Given the description of an element on the screen output the (x, y) to click on. 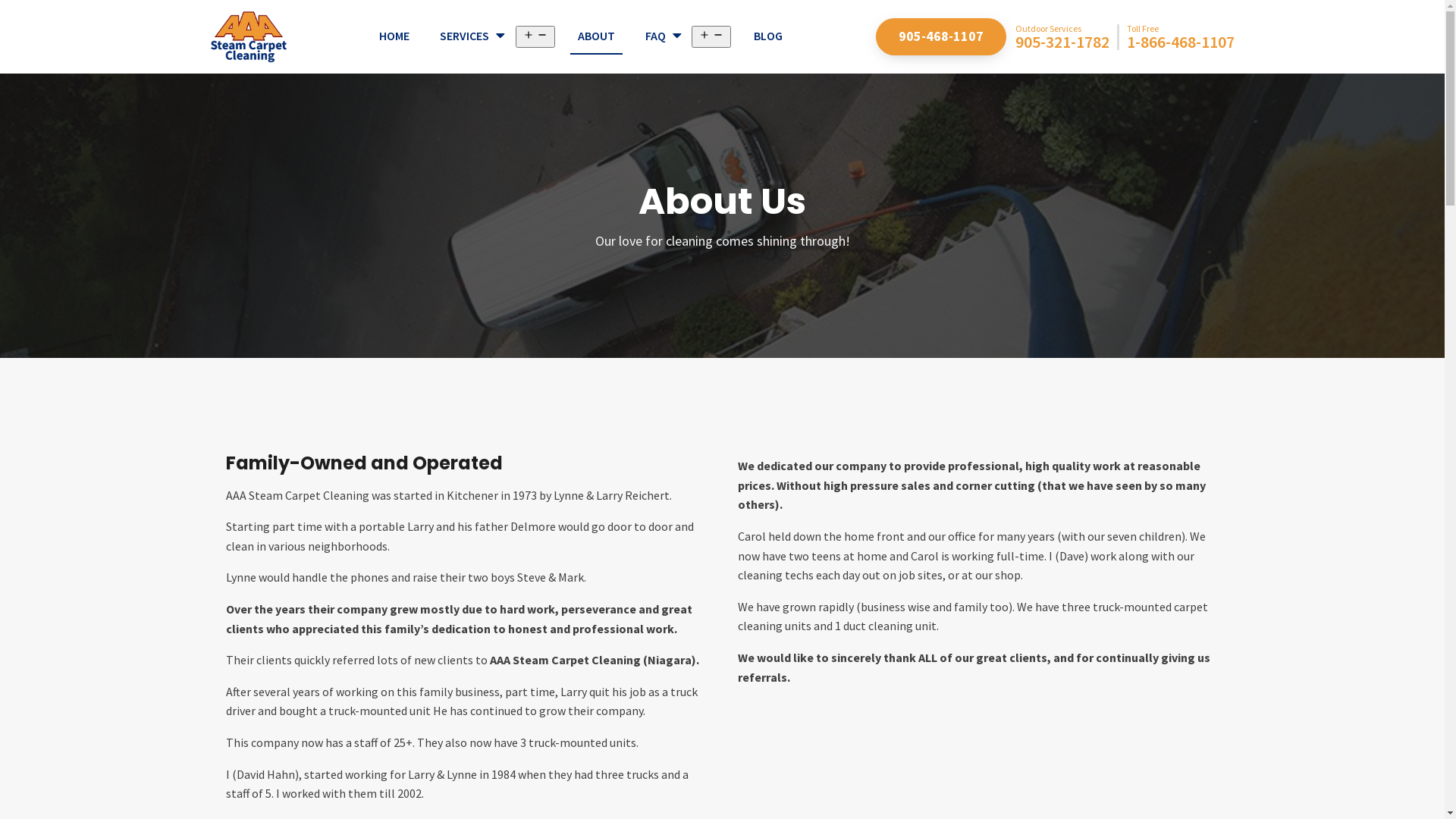
Open menu Element type: text (535, 36)
Outdoor Services
905-321-1782 Element type: text (1066, 37)
SERVICES Element type: text (473, 36)
Toll Free
1-866-468-1107 Element type: text (1180, 37)
BLOG Element type: text (768, 36)
905-468-1107 Element type: text (940, 36)
FAQ Element type: text (664, 36)
ABOUT Element type: text (596, 36)
HOME Element type: text (394, 36)
Open menu Element type: text (711, 36)
